Given the description of an element on the screen output the (x, y) to click on. 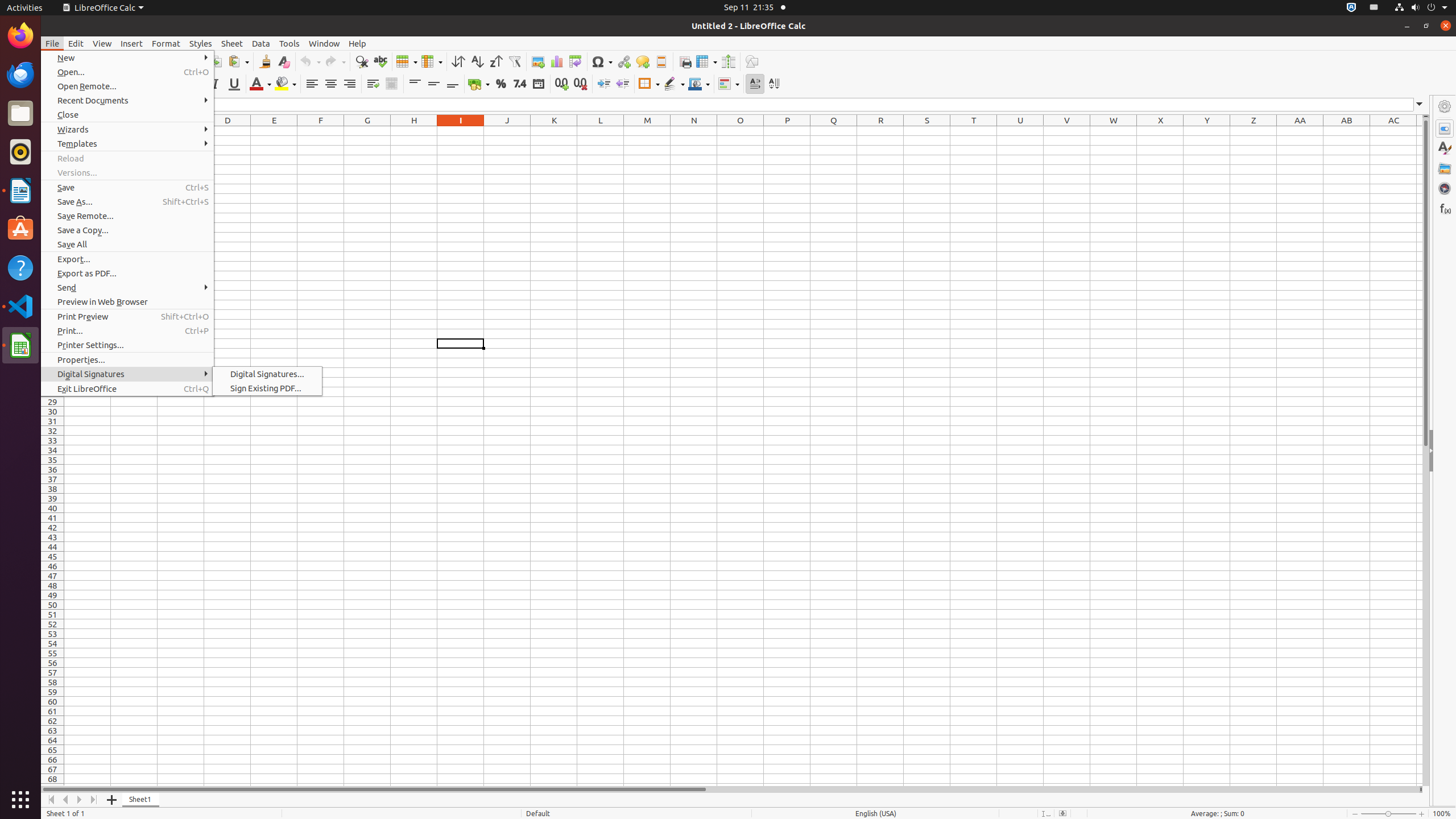
Conditional Element type: push-button (728, 83)
Save All Element type: menu-item (126, 244)
Activities Element type: label (24, 7)
S1 Element type: table-cell (926, 130)
G1 Element type: table-cell (367, 130)
